Given the description of an element on the screen output the (x, y) to click on. 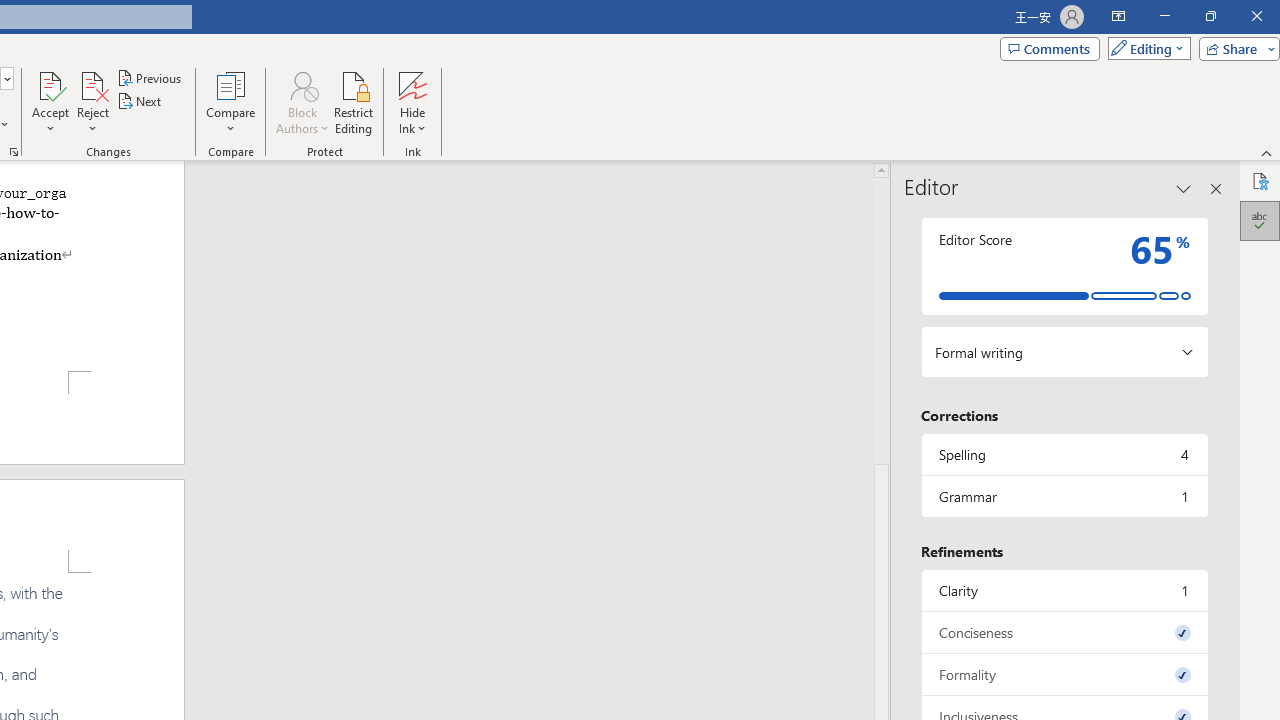
Spelling, 4 issues. Press space or enter to review items. (1064, 454)
Accessibility (1260, 180)
Editor Score 65% (1064, 266)
Editing (1144, 47)
Change Tracking Options... (13, 151)
Clarity, 1 issue. Press space or enter to review items. (1064, 590)
Block Authors (302, 102)
